Given the description of an element on the screen output the (x, y) to click on. 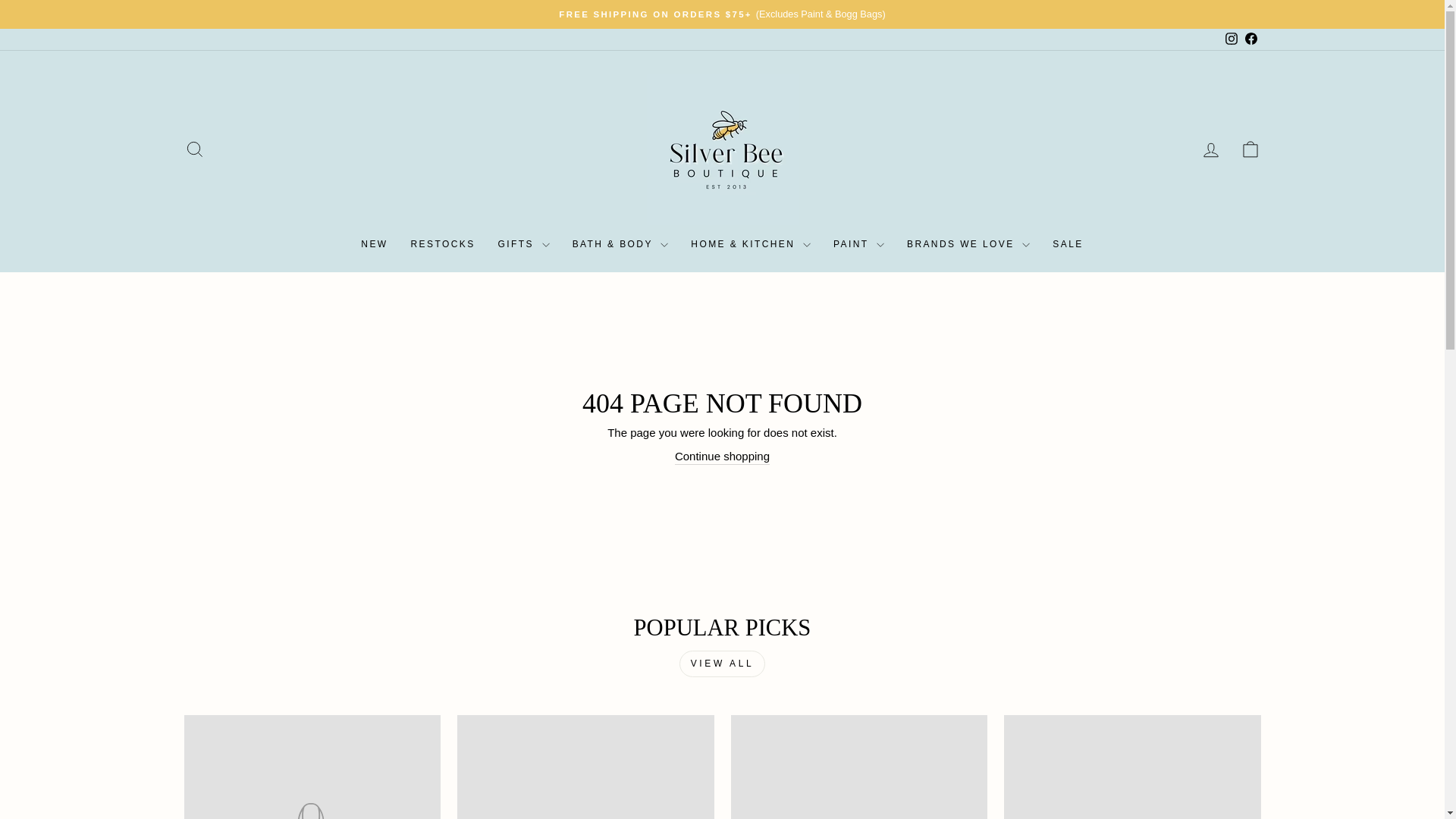
instagram (1231, 38)
ICON-BAG-MINIMAL (1249, 148)
Silver Bee Boutique on Instagram (1230, 38)
Silver Bee Boutique on Facebook (1250, 38)
ICON-SEARCH (194, 148)
ACCOUNT (1210, 149)
